Given the description of an element on the screen output the (x, y) to click on. 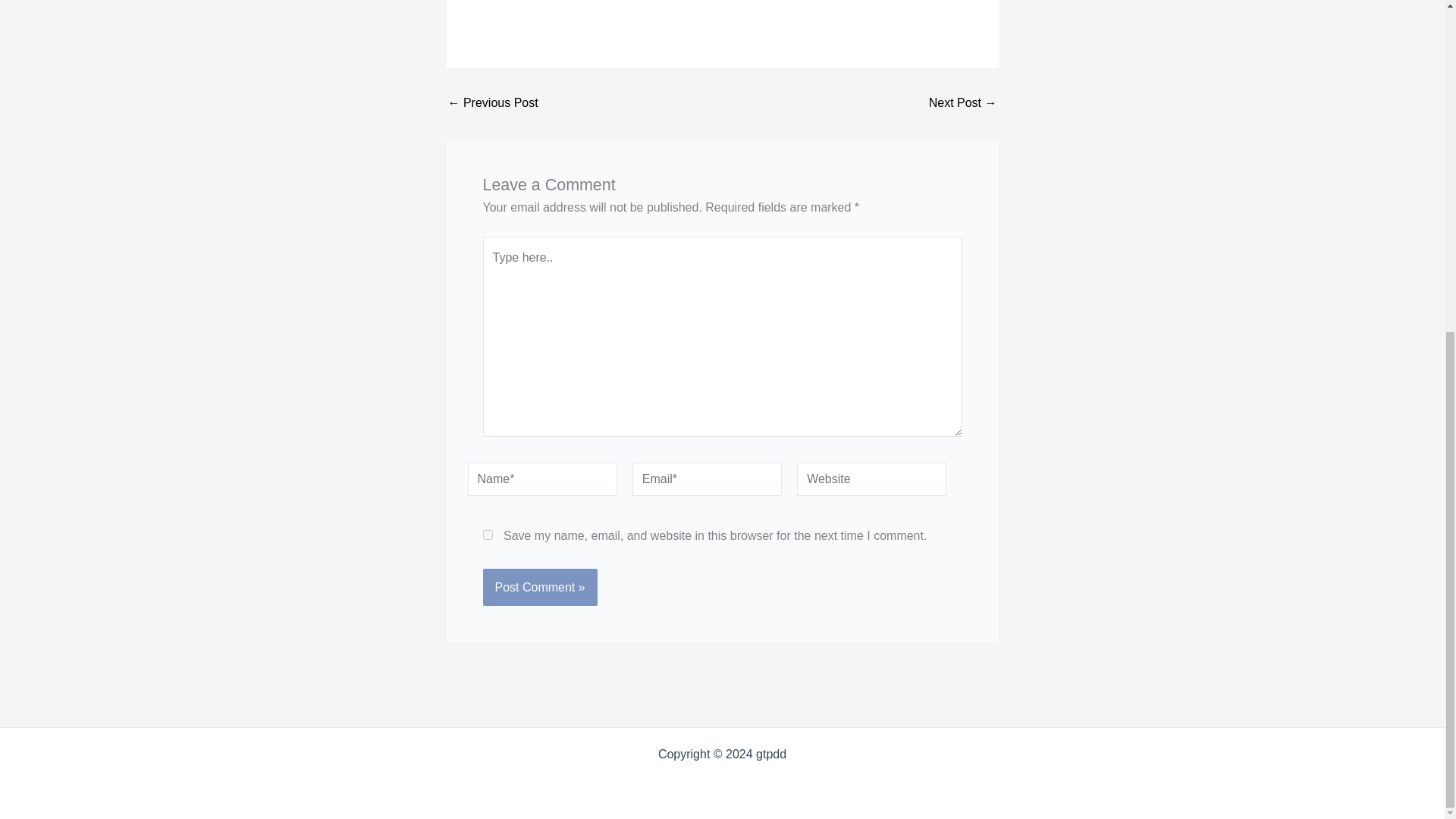
yes (486, 534)
Mid-season Predictions Review (962, 102)
Blocked! Tech's confusing final play at UAB (491, 102)
